Given the description of an element on the screen output the (x, y) to click on. 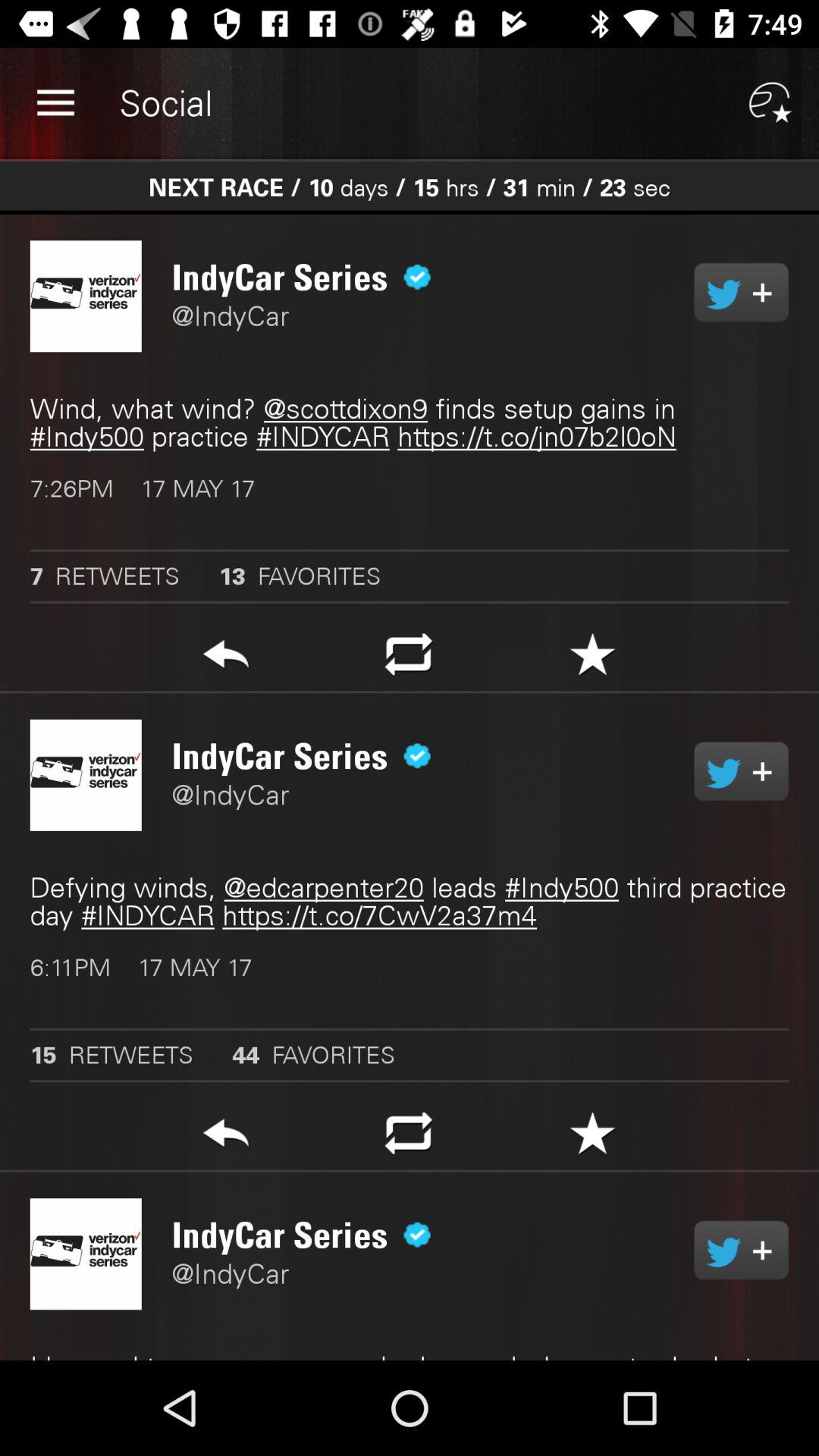
refresh (408, 658)
